Given the description of an element on the screen output the (x, y) to click on. 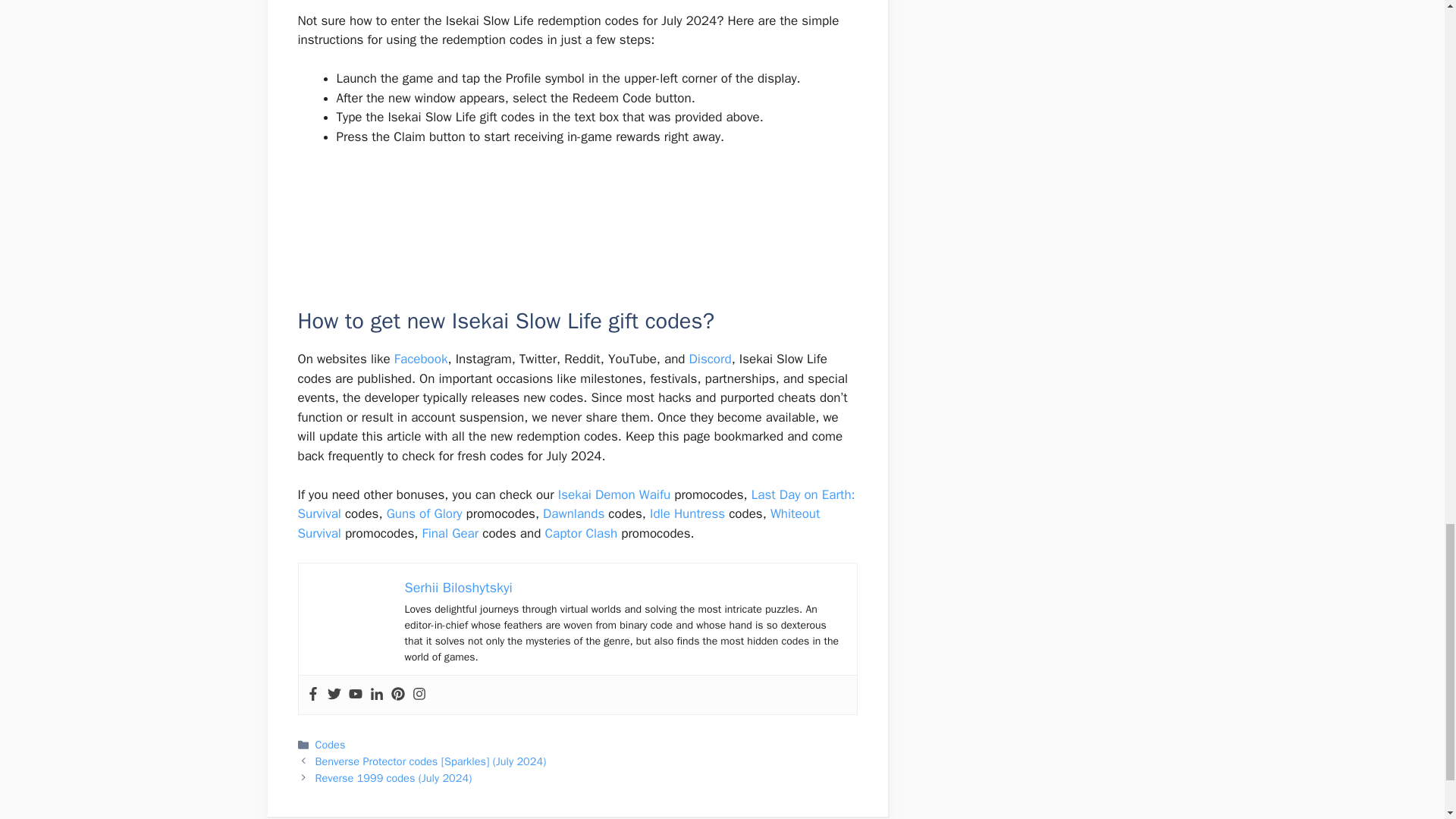
Codes (330, 744)
Guns of Glory (425, 513)
Isekai Demon Waifu (613, 494)
Final Gear (450, 533)
Idle Huntress (687, 513)
Discord (710, 358)
Dawnlands (573, 513)
Last Day on Earth: Survival (575, 504)
Captor Clash (580, 533)
Serhii Biloshytskyi (458, 587)
Whiteout Survival (558, 523)
Facebook (421, 358)
